Given the description of an element on the screen output the (x, y) to click on. 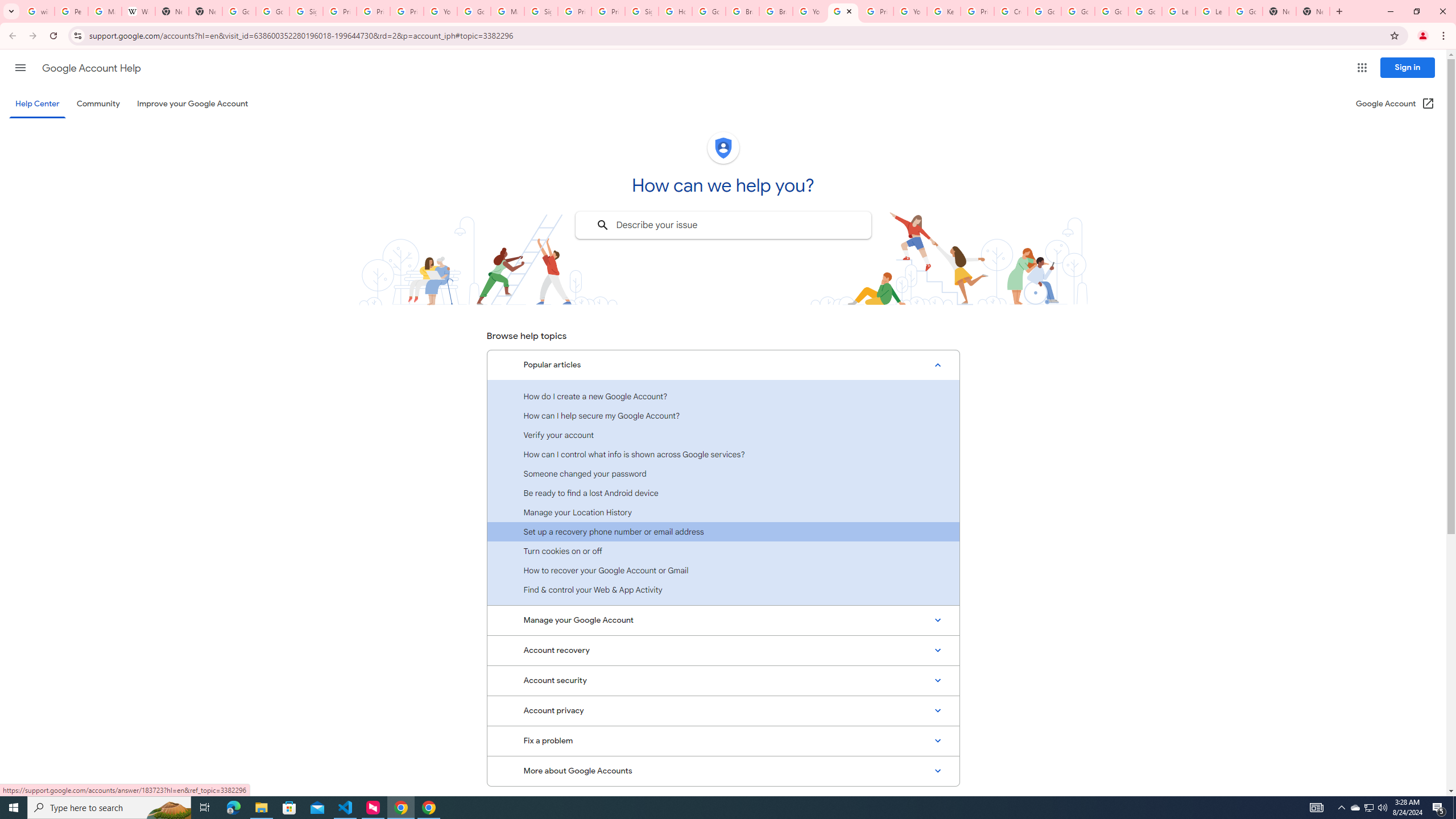
Manage your Google Account (722, 620)
YouTube (809, 11)
YouTube (441, 11)
Brand Resource Center (742, 11)
Describe your issue to find information that might help you. (722, 225)
Wikipedia:Edit requests - Wikipedia (138, 11)
Account privacy (722, 710)
Google Account Help (842, 11)
Someone changed your password (722, 473)
Google Account (Open in a new window) (1395, 103)
